Given the description of an element on the screen output the (x, y) to click on. 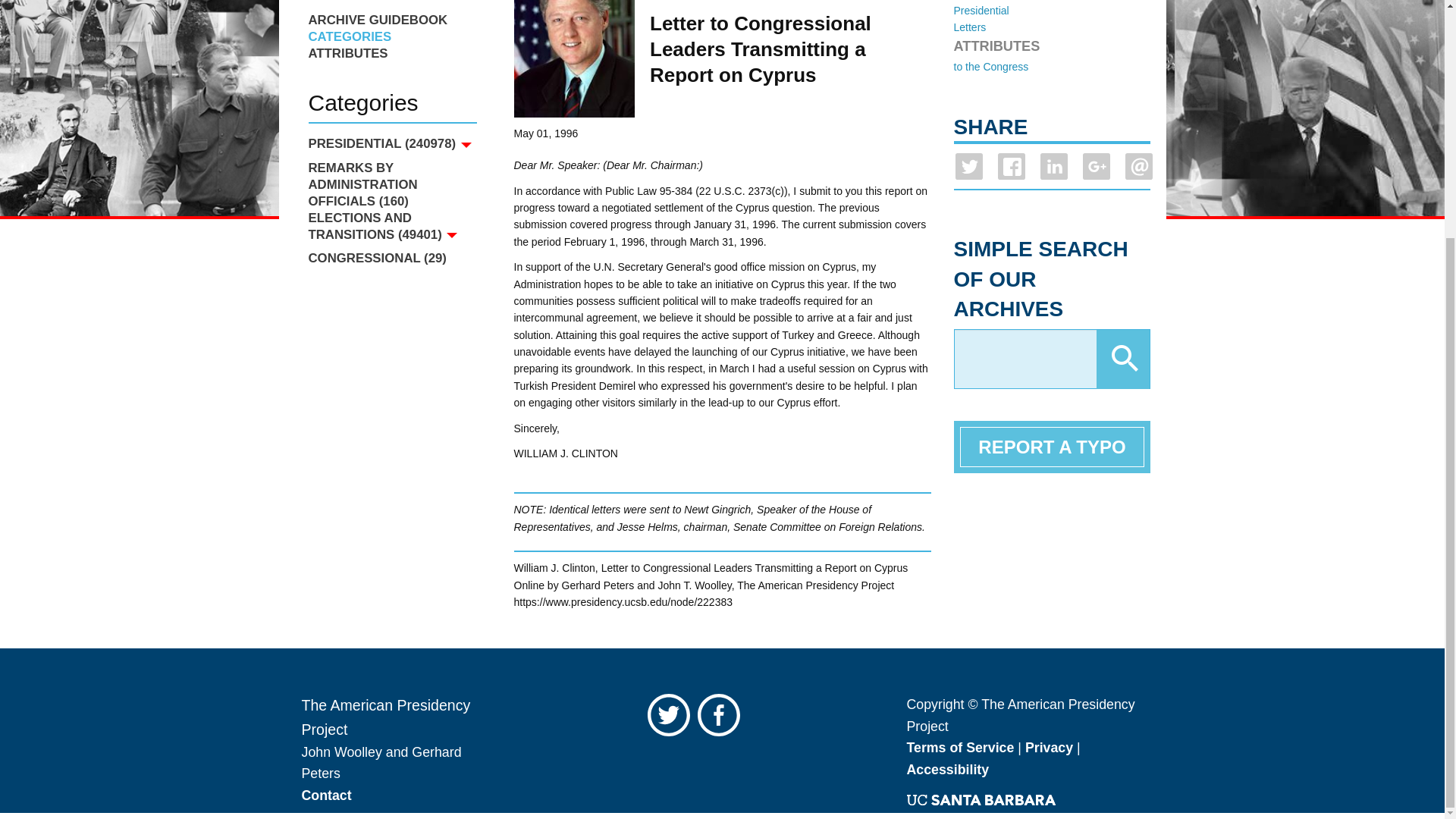
ATTRIBUTES (391, 53)
CATEGORIES (391, 36)
ARCHIVE GUIDEBOOK (391, 20)
